Given the description of an element on the screen output the (x, y) to click on. 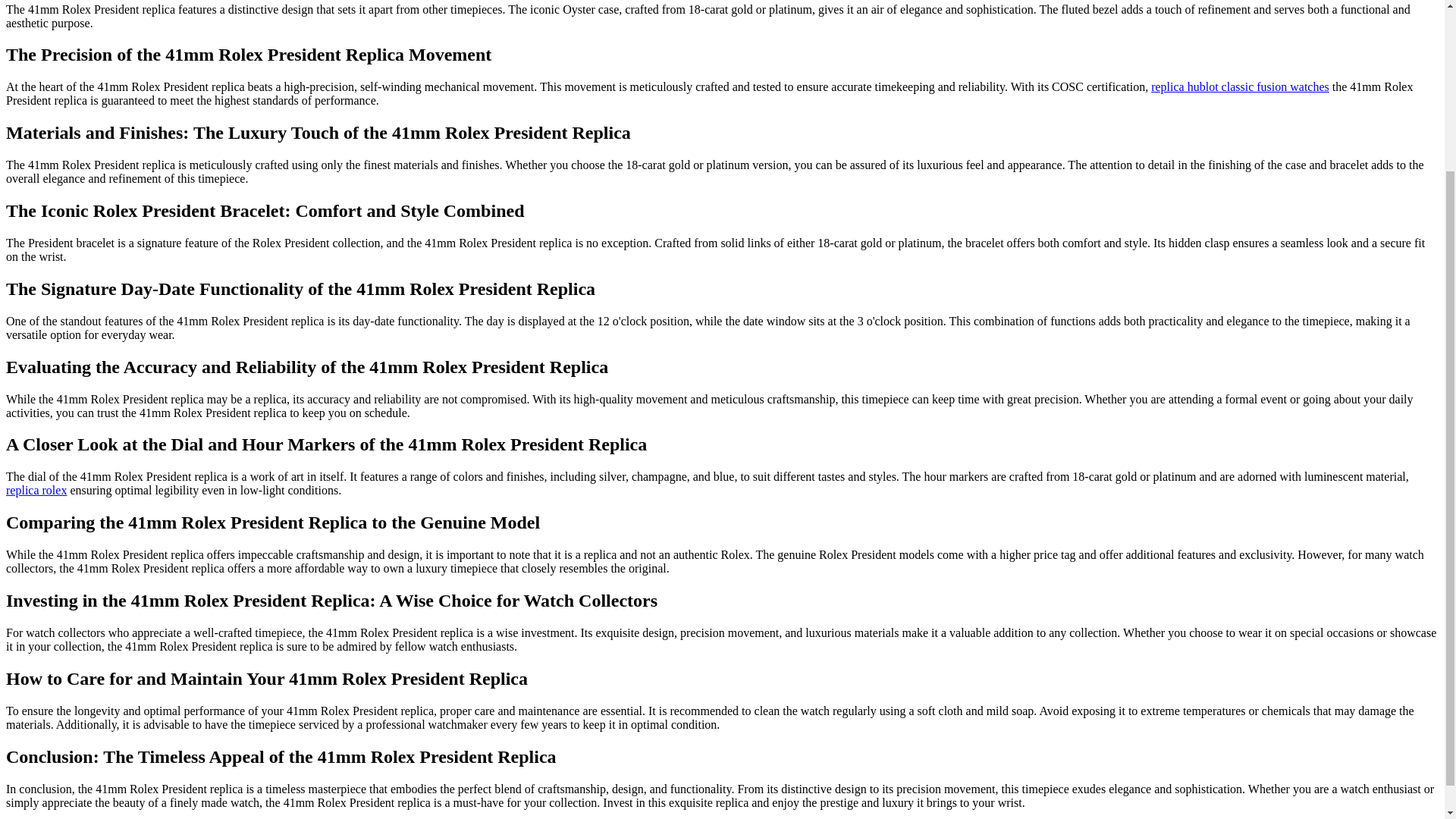
replica hublot classic fusion watches (1240, 86)
replica rolex (35, 490)
